Given the description of an element on the screen output the (x, y) to click on. 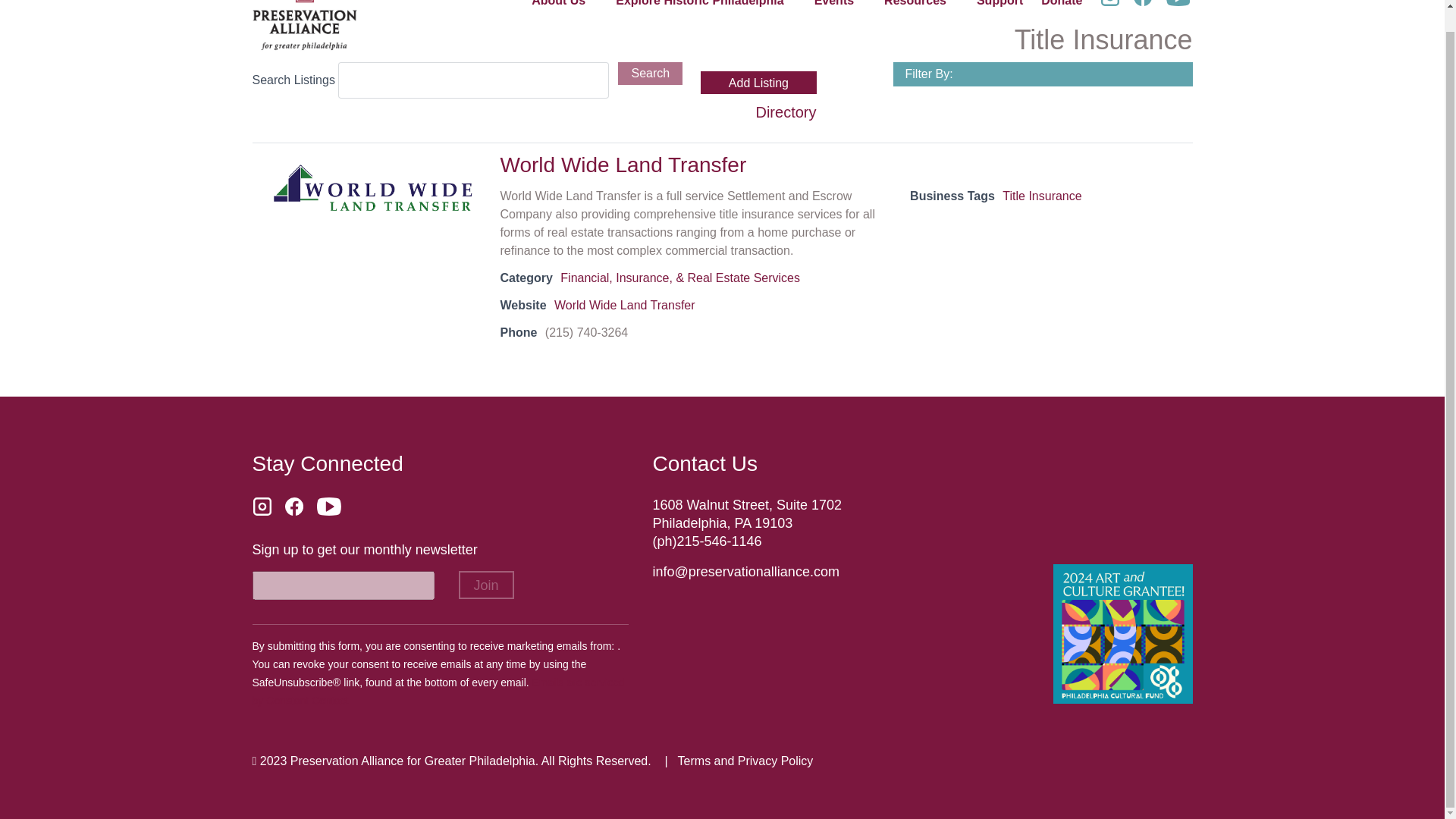
World Wide Land Transfer (624, 305)
Quick search keywords (472, 80)
About Us (558, 6)
World Wide Land Transfer (372, 188)
Search (649, 73)
Join (485, 584)
